Given the description of an element on the screen output the (x, y) to click on. 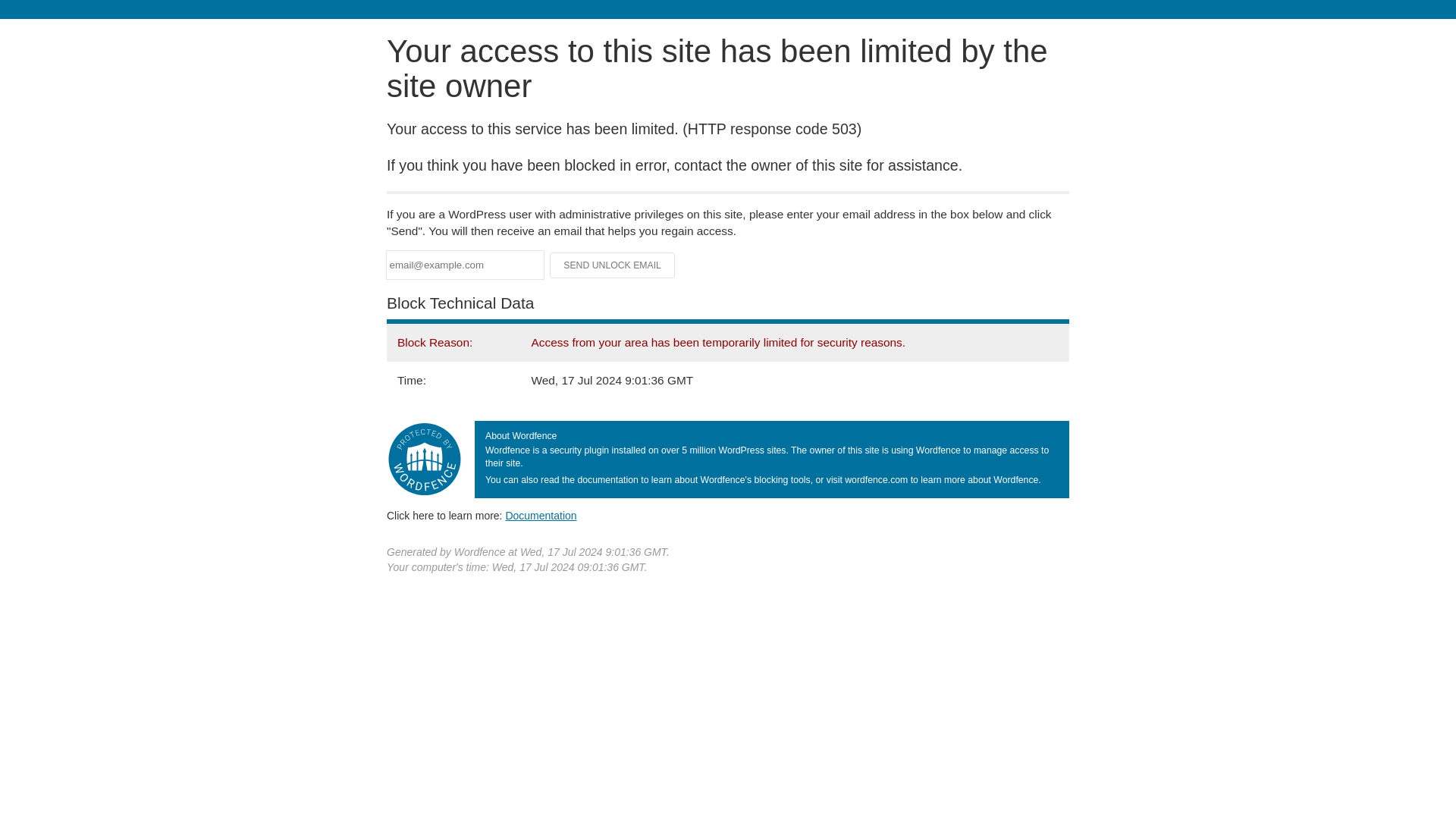
Send Unlock Email (612, 265)
Send Unlock Email (612, 265)
Documentation (540, 515)
